Given the description of an element on the screen output the (x, y) to click on. 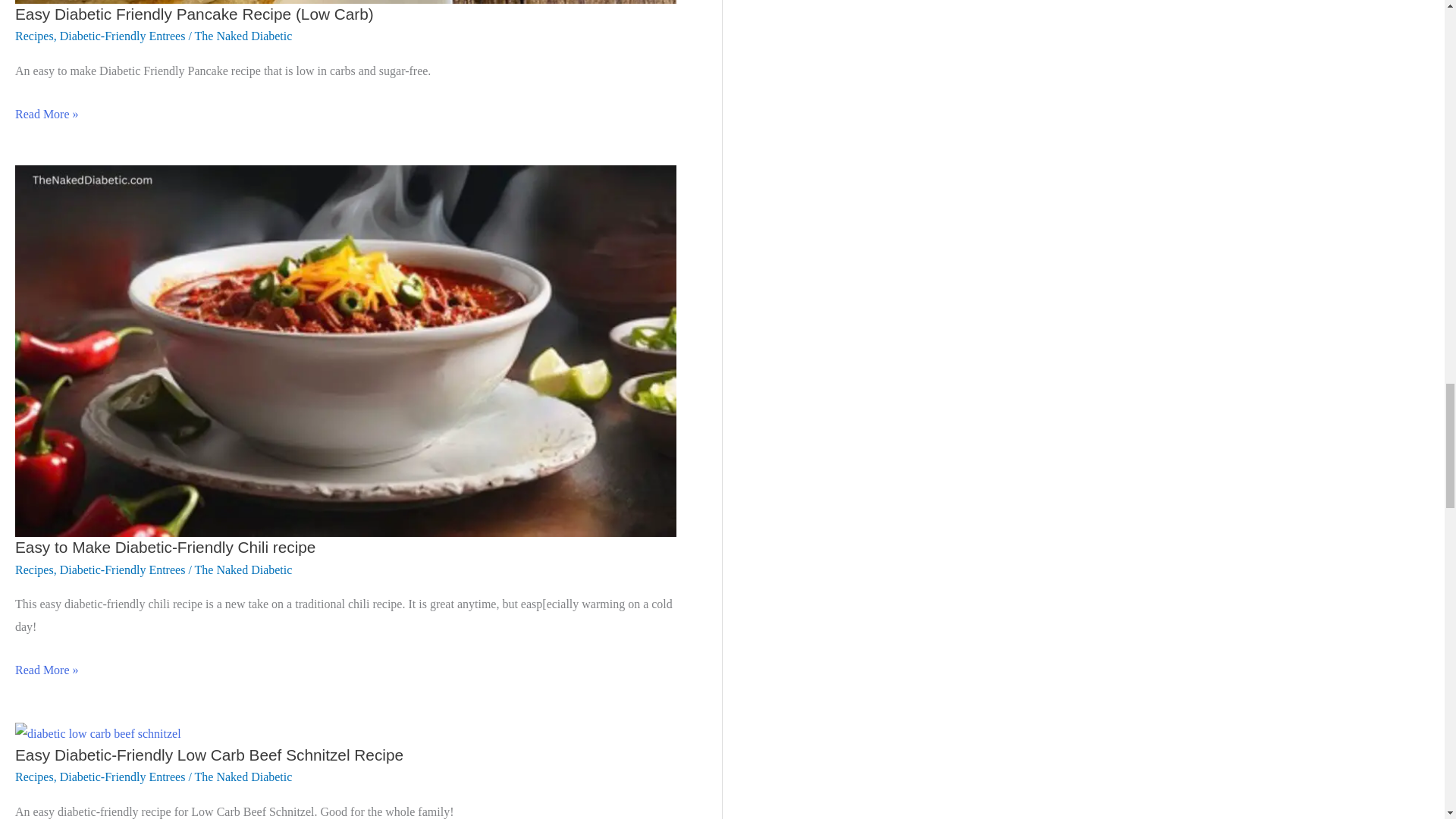
View all posts by The Naked Diabetic (243, 35)
View all posts by The Naked Diabetic (243, 569)
View all posts by The Naked Diabetic (243, 776)
